Given the description of an element on the screen output the (x, y) to click on. 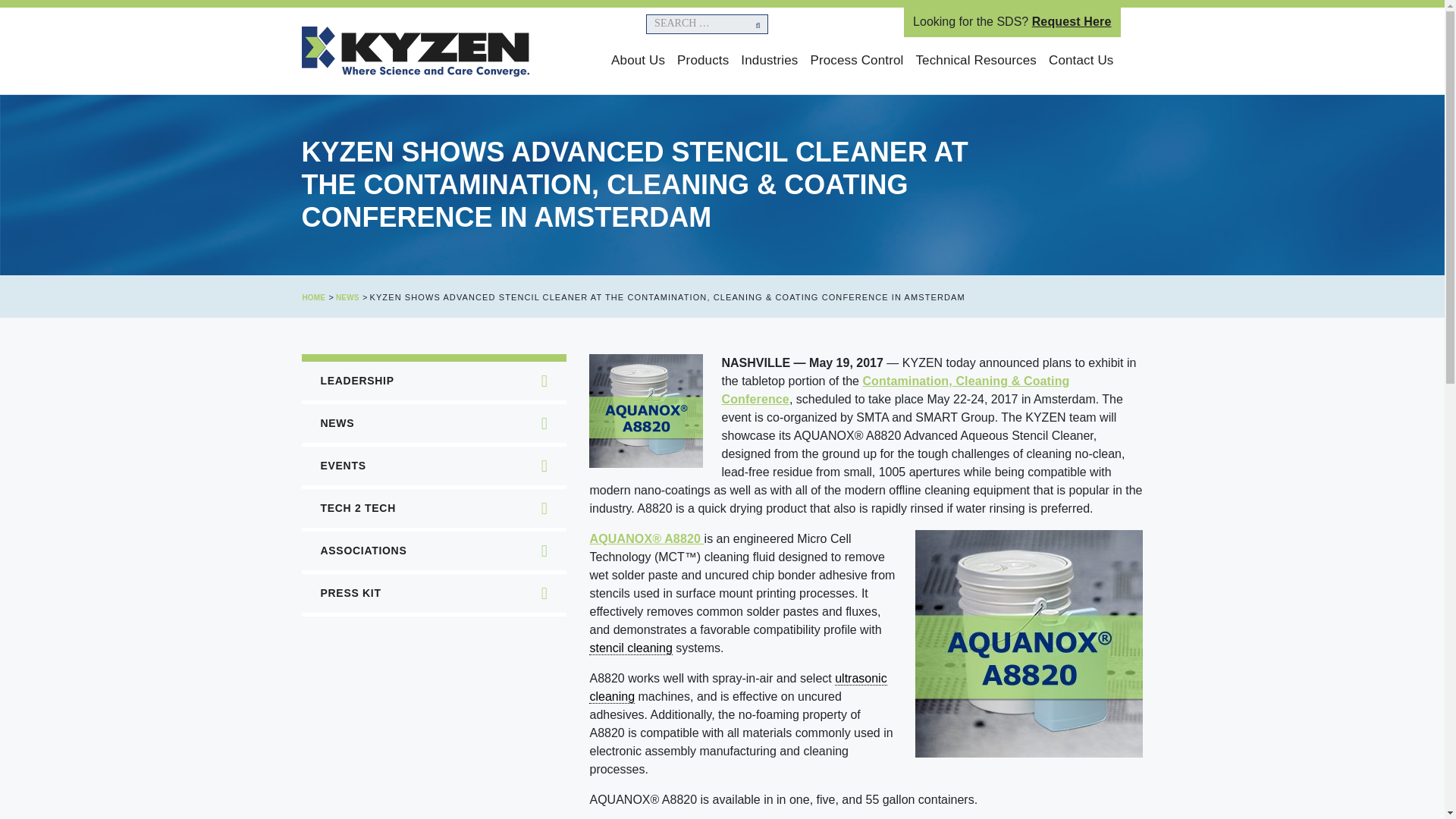
ASSOCIATIONS (360, 550)
Products (703, 60)
HOME (312, 297)
TECH 2 TECH (354, 507)
Search (746, 32)
Technical Resources (975, 60)
LEADERSHIP (353, 380)
EVENTS (339, 465)
Process Control (855, 60)
NEWS (333, 423)
Request Here (1072, 21)
About Us (638, 60)
NEWS (347, 297)
Search (746, 32)
PRESS KIT (347, 593)
